Given the description of an element on the screen output the (x, y) to click on. 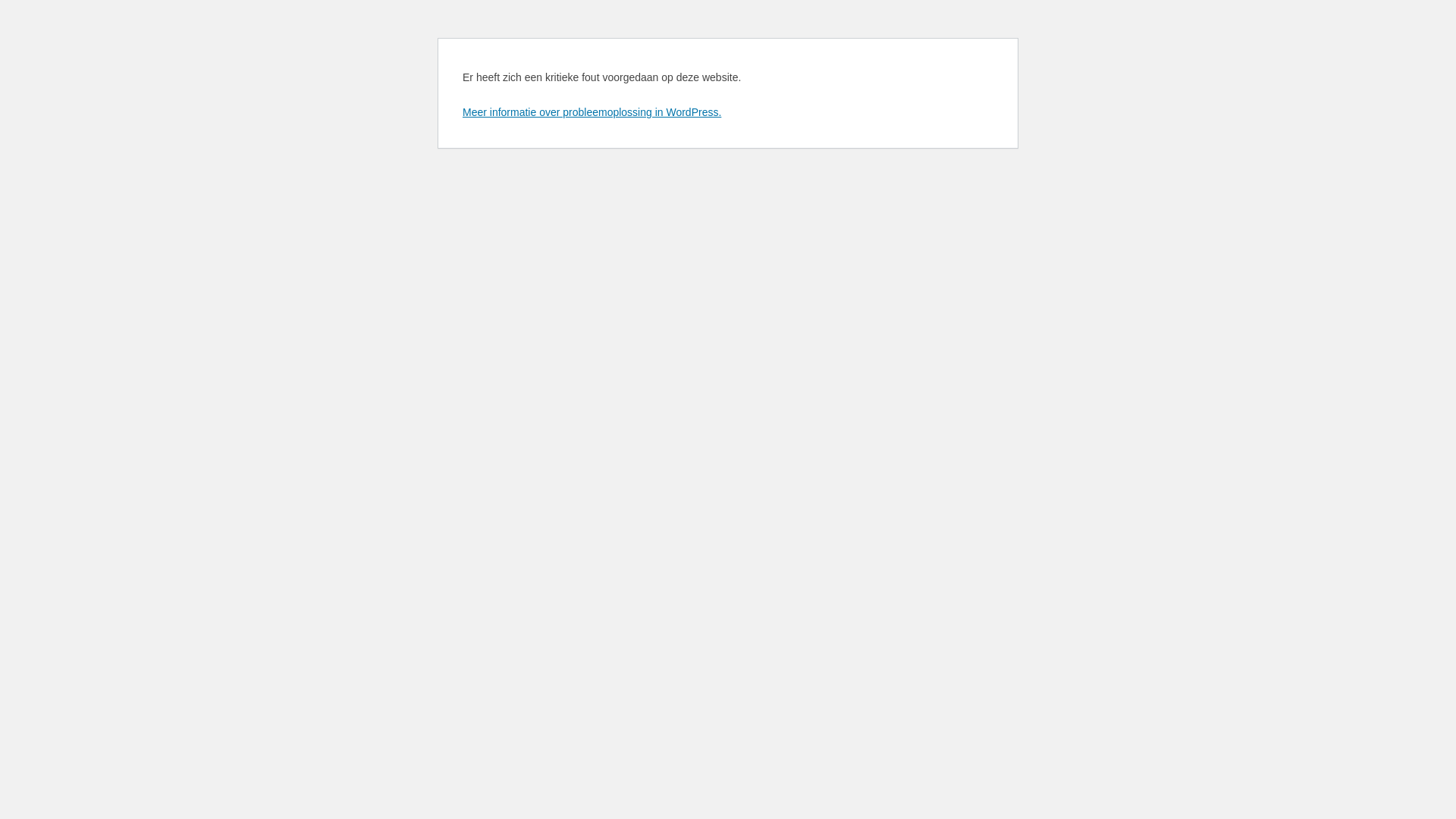
Meer informatie over probleemoplossing in WordPress. Element type: text (591, 112)
